Given the description of an element on the screen output the (x, y) to click on. 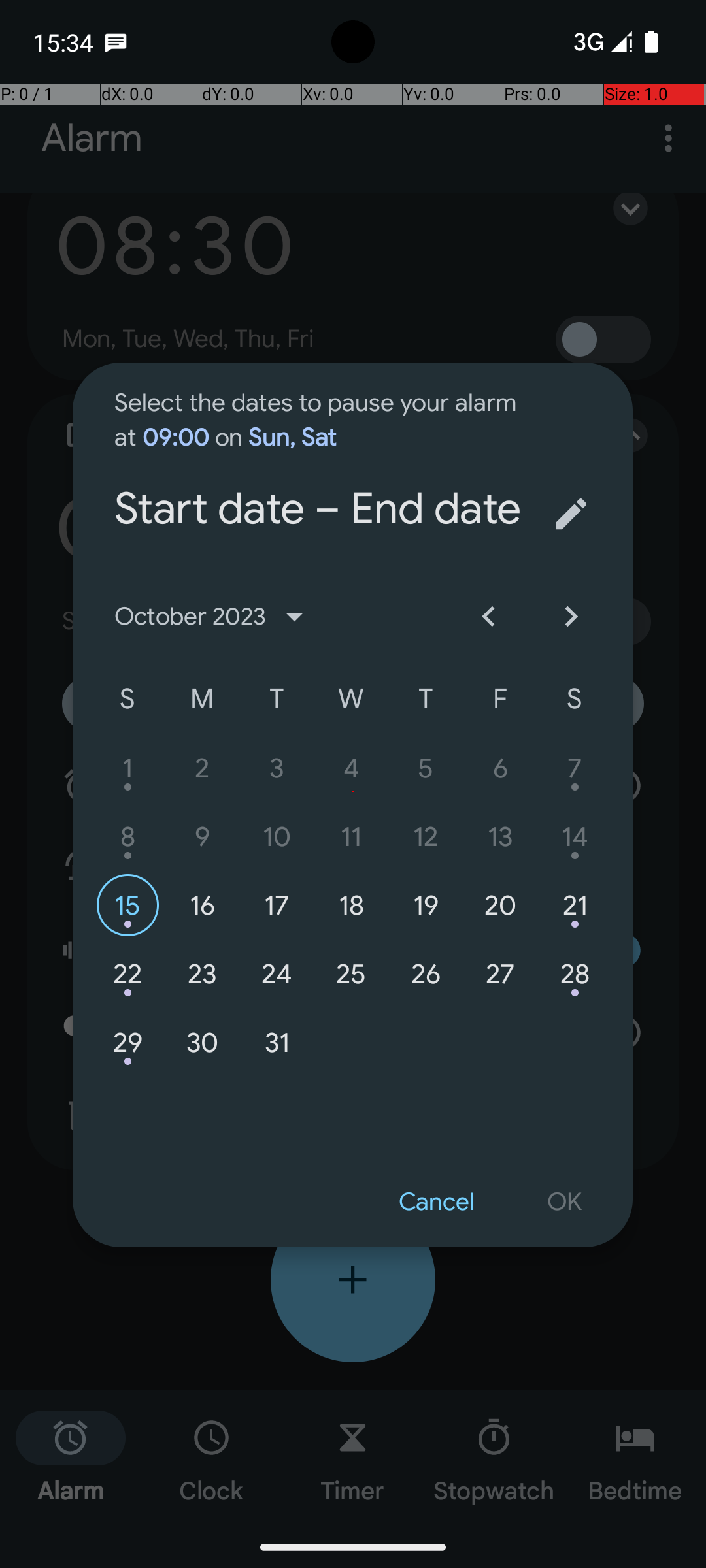
Switch to text input mode Element type: android.widget.ImageButton (570, 513)
October 2023 Element type: android.widget.Button (214, 616)
Change to previous month Element type: android.widget.Button (488, 616)
Change to next month Element type: android.widget.Button (570, 616)
Start date – End date Element type: android.widget.TextView (321, 454)
Select the dates to pause your alarm at 09:00 on Sun, Sat Element type: android.widget.TextView (321, 407)
